Given the description of an element on the screen output the (x, y) to click on. 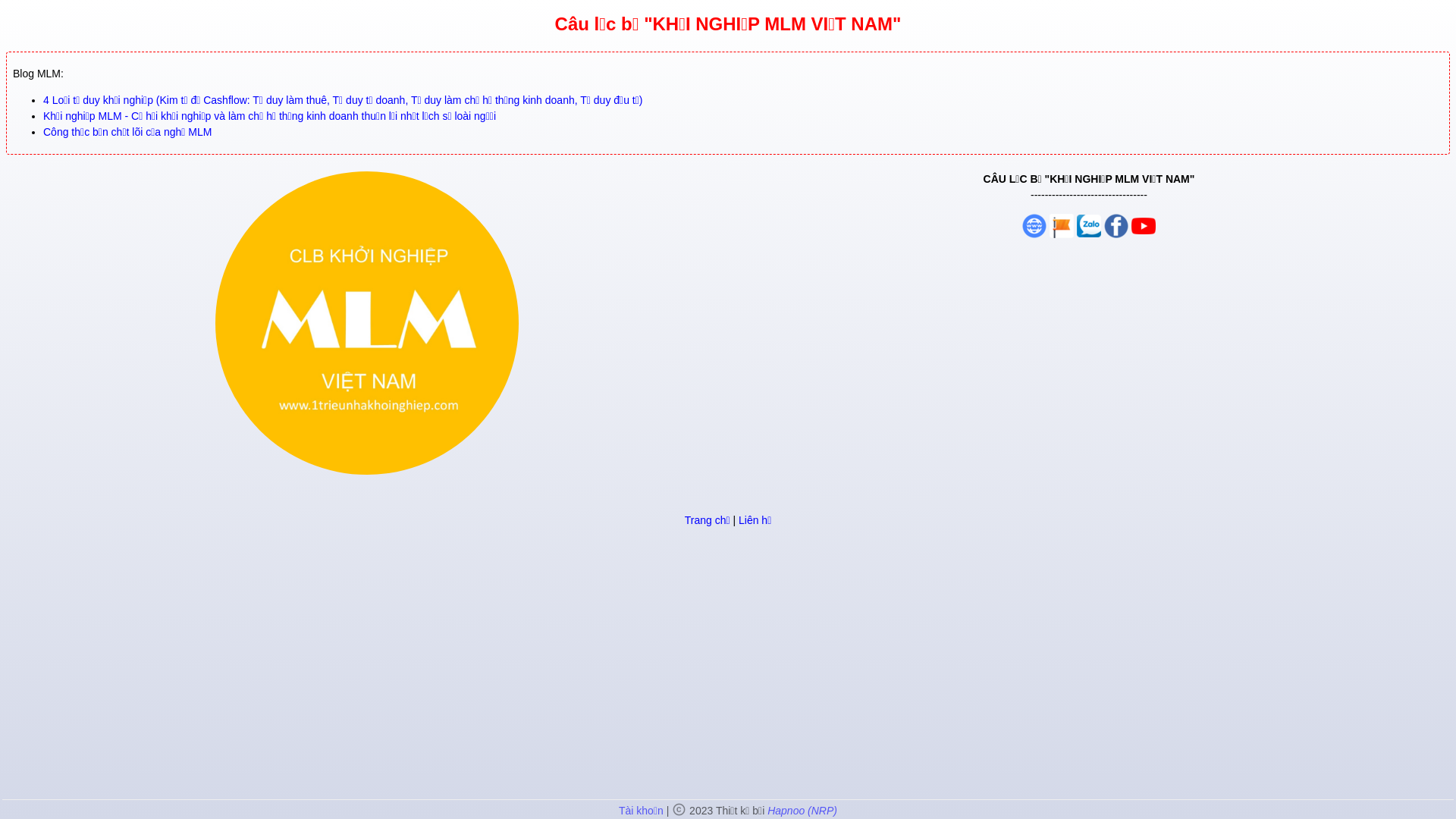
Group Zalo Element type: hover (1088, 225)
Website Element type: hover (1034, 225)
Fanpage Element type: hover (1061, 225)
Hapnoo (NRP) Element type: text (802, 810)
Group Facebook Element type: hover (1143, 225)
Group Facebook Element type: hover (1116, 225)
